Given the description of an element on the screen output the (x, y) to click on. 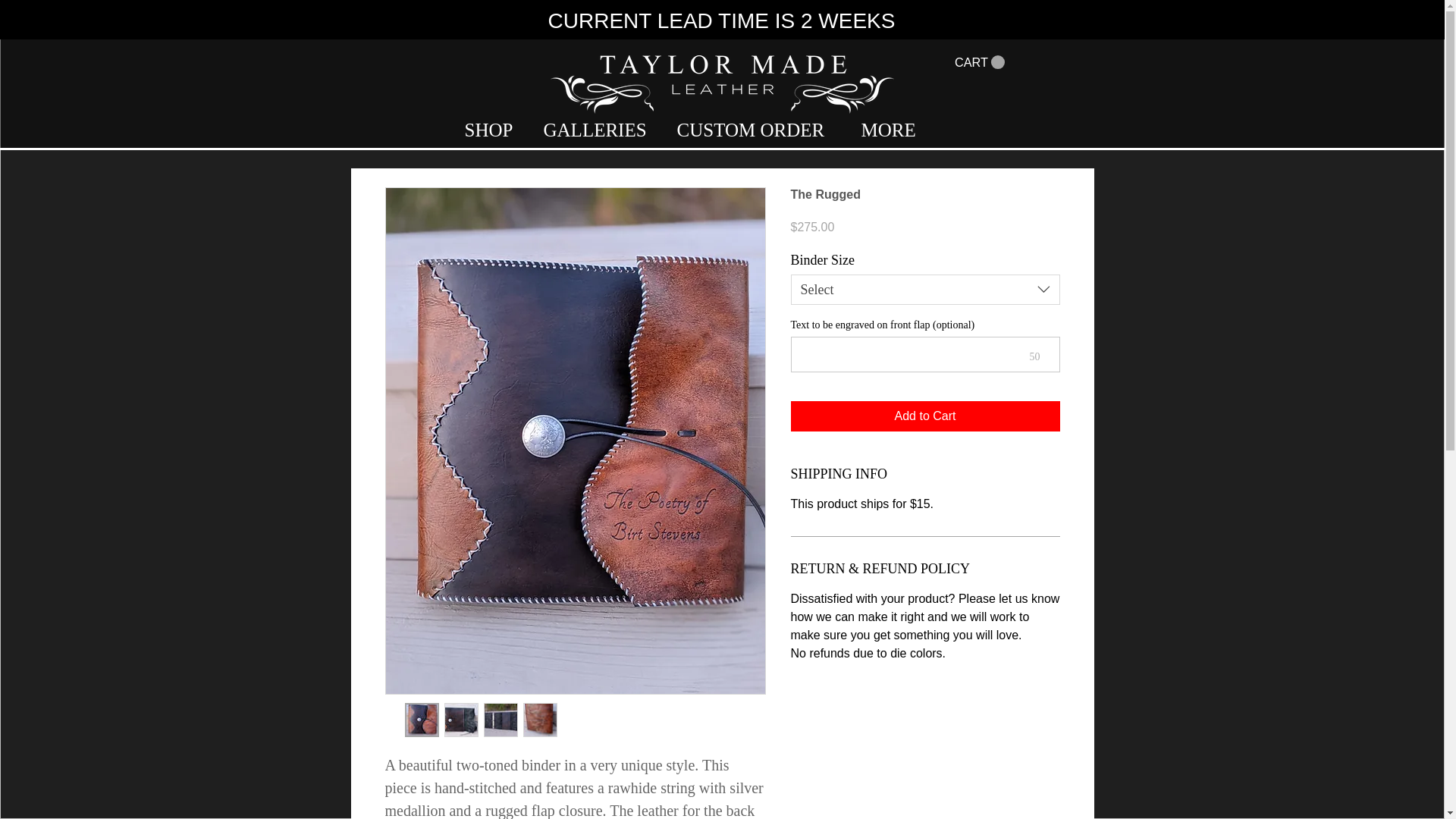
CART (978, 62)
Select (924, 289)
GALLERIES (598, 130)
SHOP (492, 130)
Add to Cart (924, 416)
CART (978, 62)
CUSTOM ORDER (757, 130)
